Given the description of an element on the screen output the (x, y) to click on. 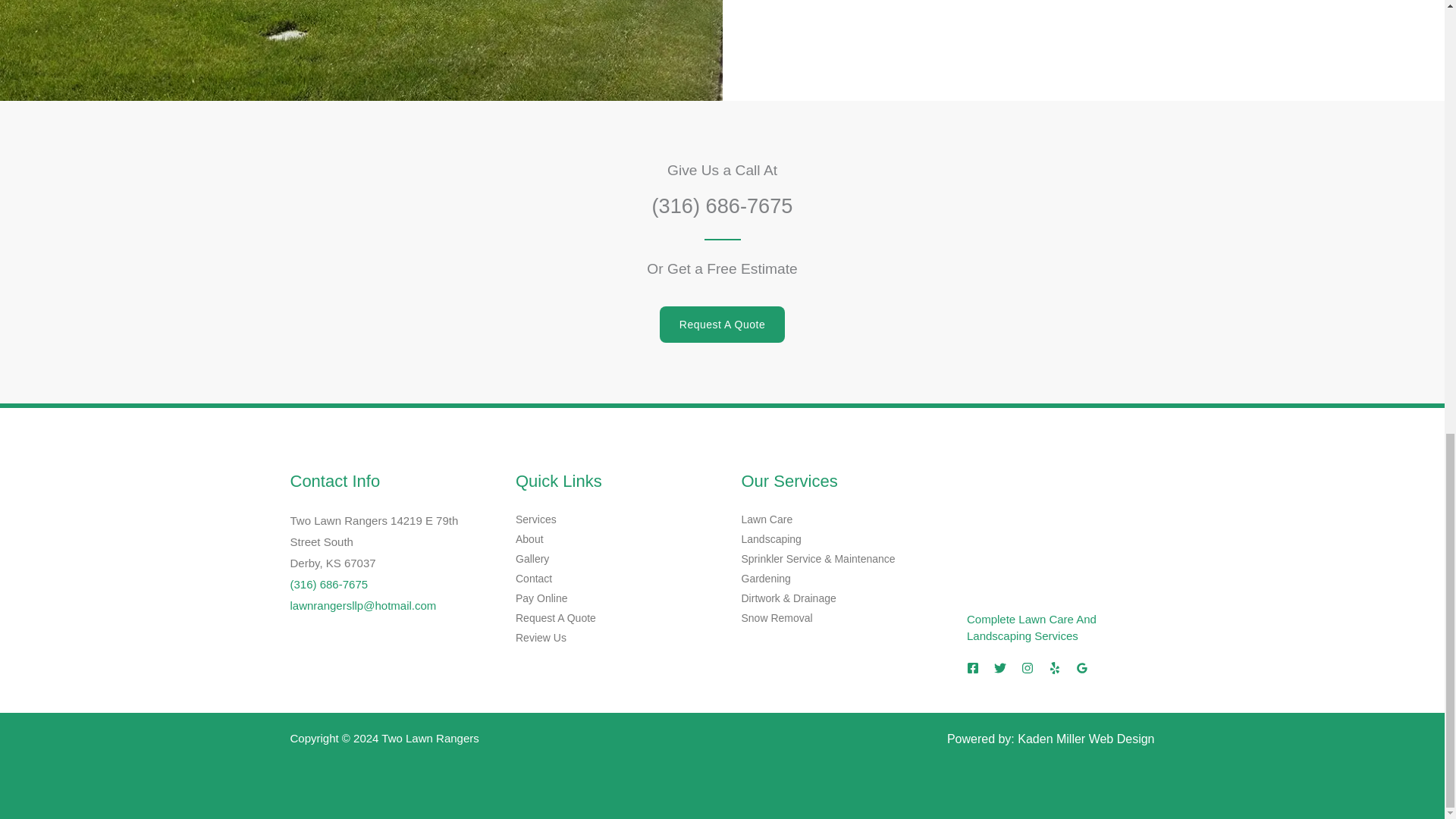
Pay Online (541, 598)
Landscaping (771, 539)
Snow Removal (776, 617)
Contact (533, 578)
Review Us (540, 637)
Request A Quote (721, 324)
Services (535, 519)
Gallery (531, 558)
Lawn Care (767, 519)
About (529, 539)
